Given the description of an element on the screen output the (x, y) to click on. 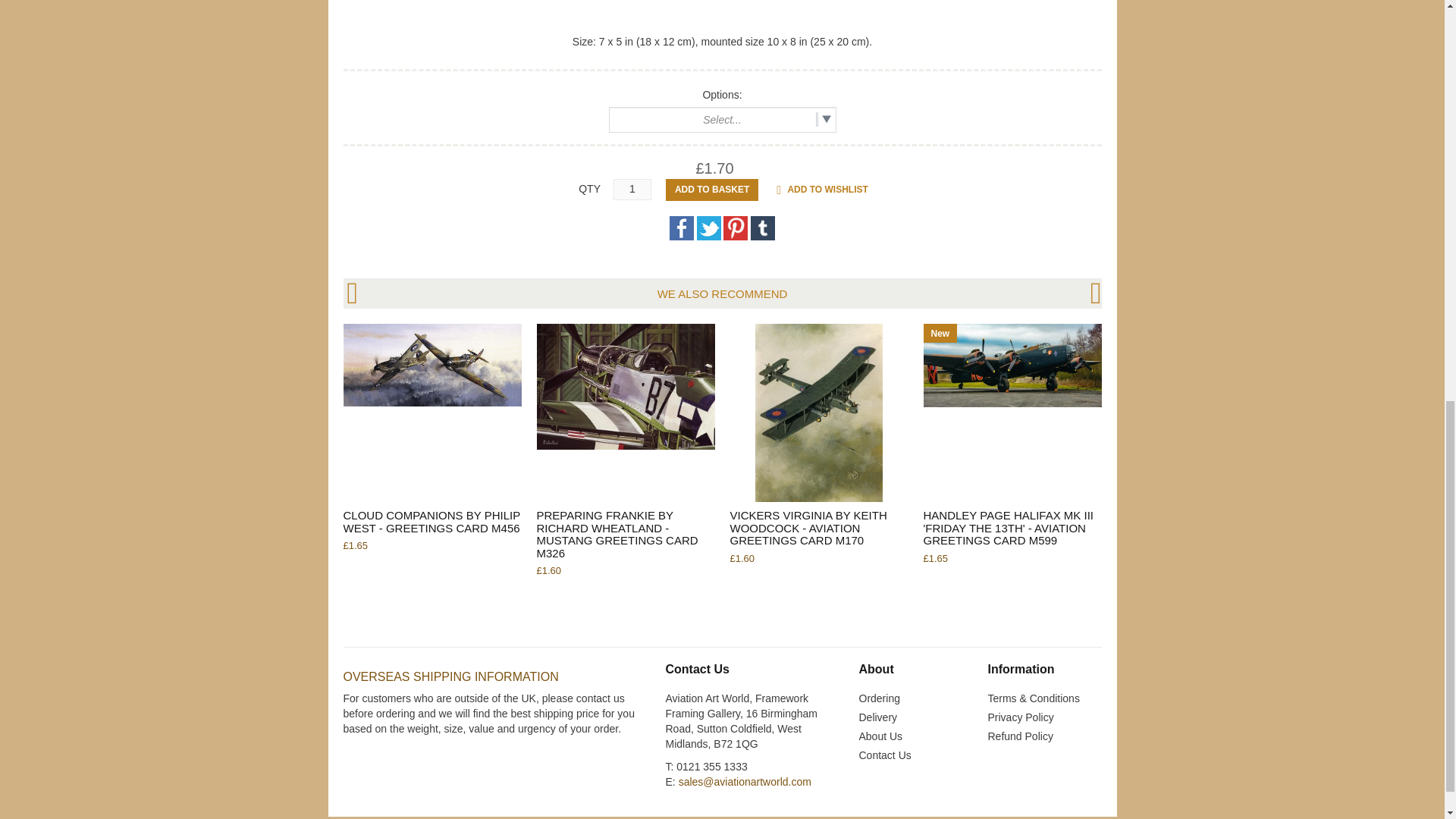
1 (631, 189)
